Given the description of an element on the screen output the (x, y) to click on. 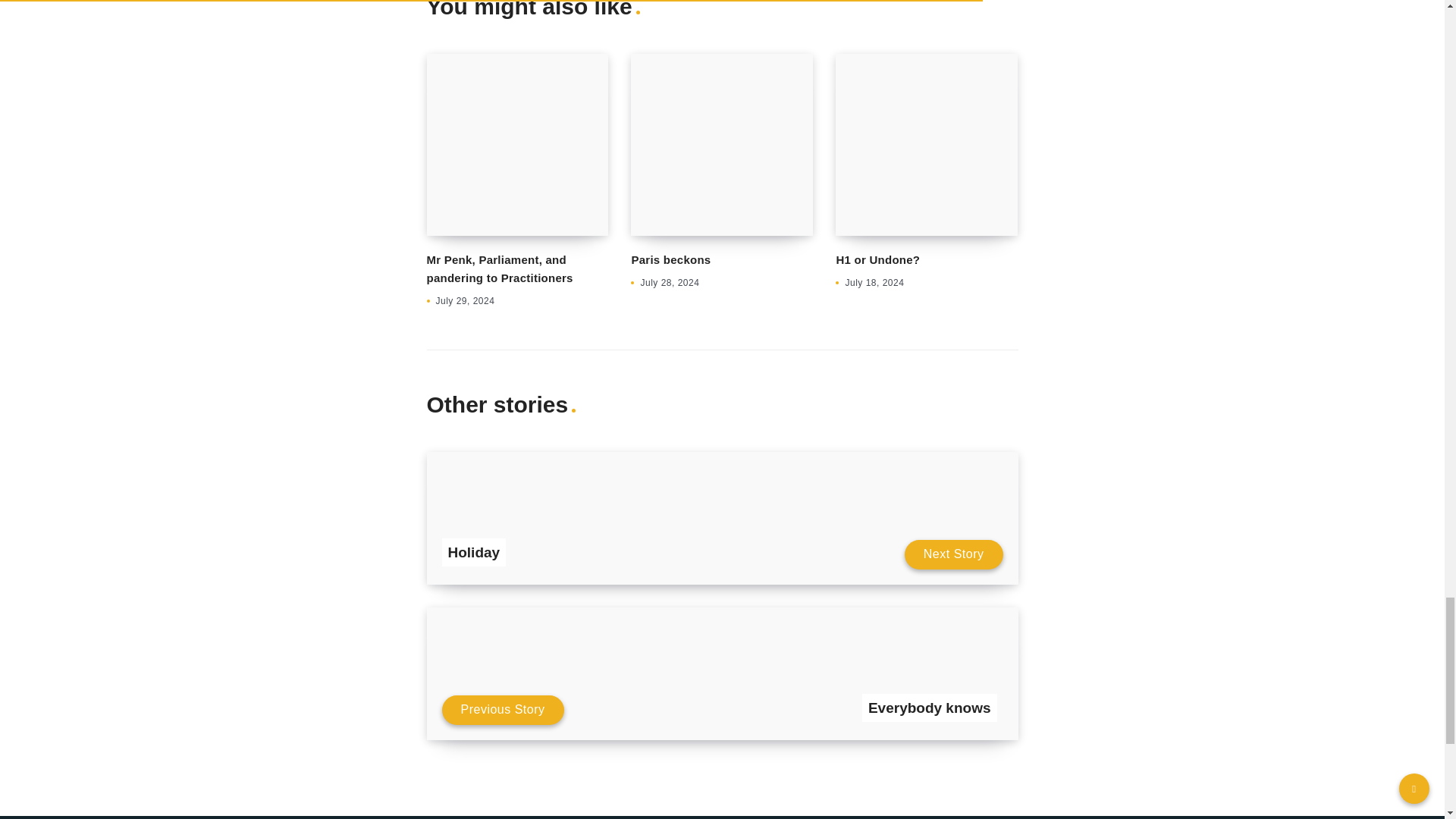
Mr Penk, Parliament, and pandering to Practitioners (499, 268)
Paris beckons (670, 259)
H1 or Undone? (877, 259)
